Given the description of an element on the screen output the (x, y) to click on. 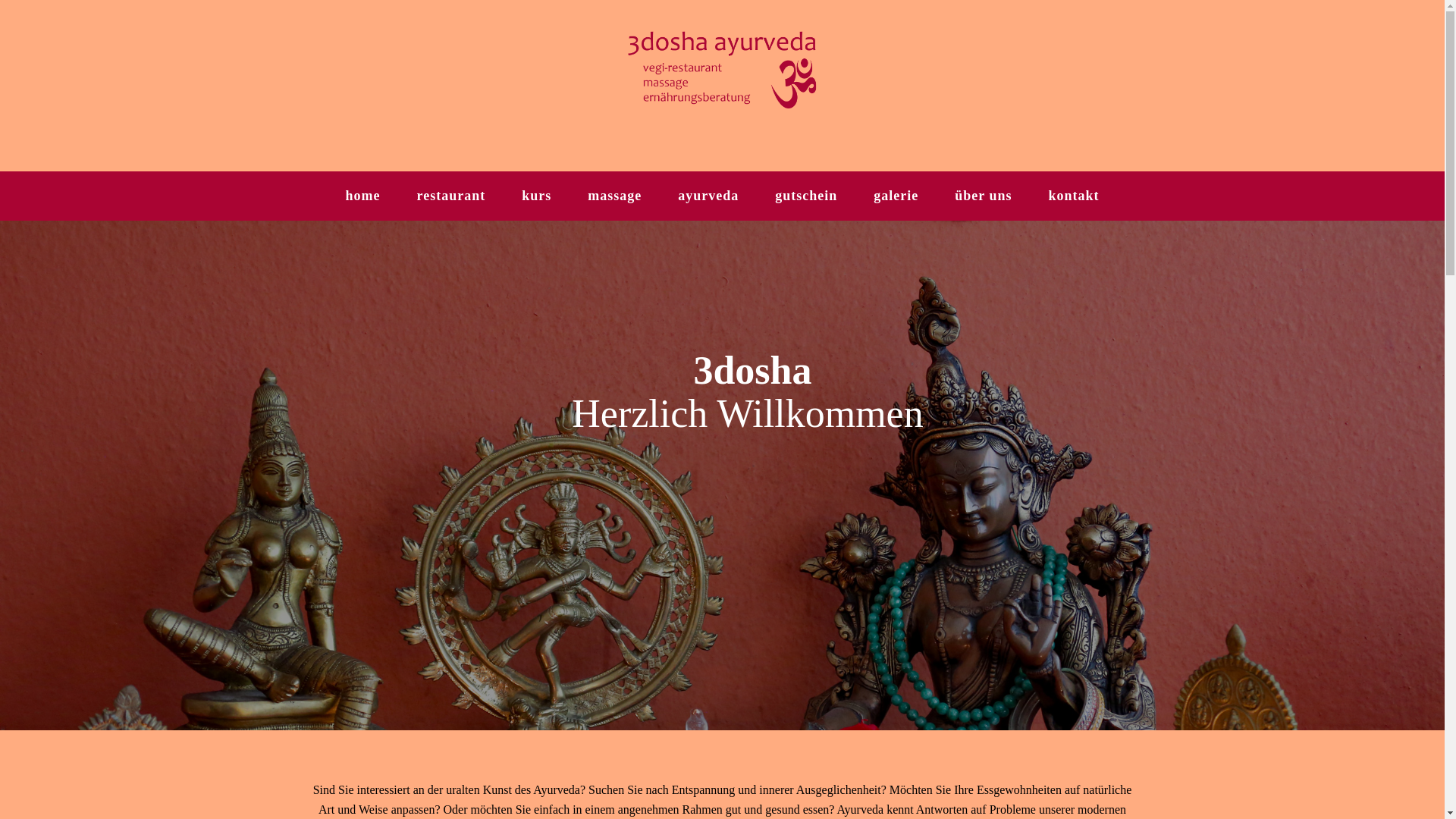
gutschein Element type: text (805, 195)
home Element type: text (362, 195)
ayurveda Element type: text (707, 195)
kurs Element type: text (536, 195)
restaurant Element type: text (451, 195)
galerie Element type: text (895, 195)
massage Element type: text (614, 195)
kontakt Element type: text (1073, 195)
